Given the description of an element on the screen output the (x, y) to click on. 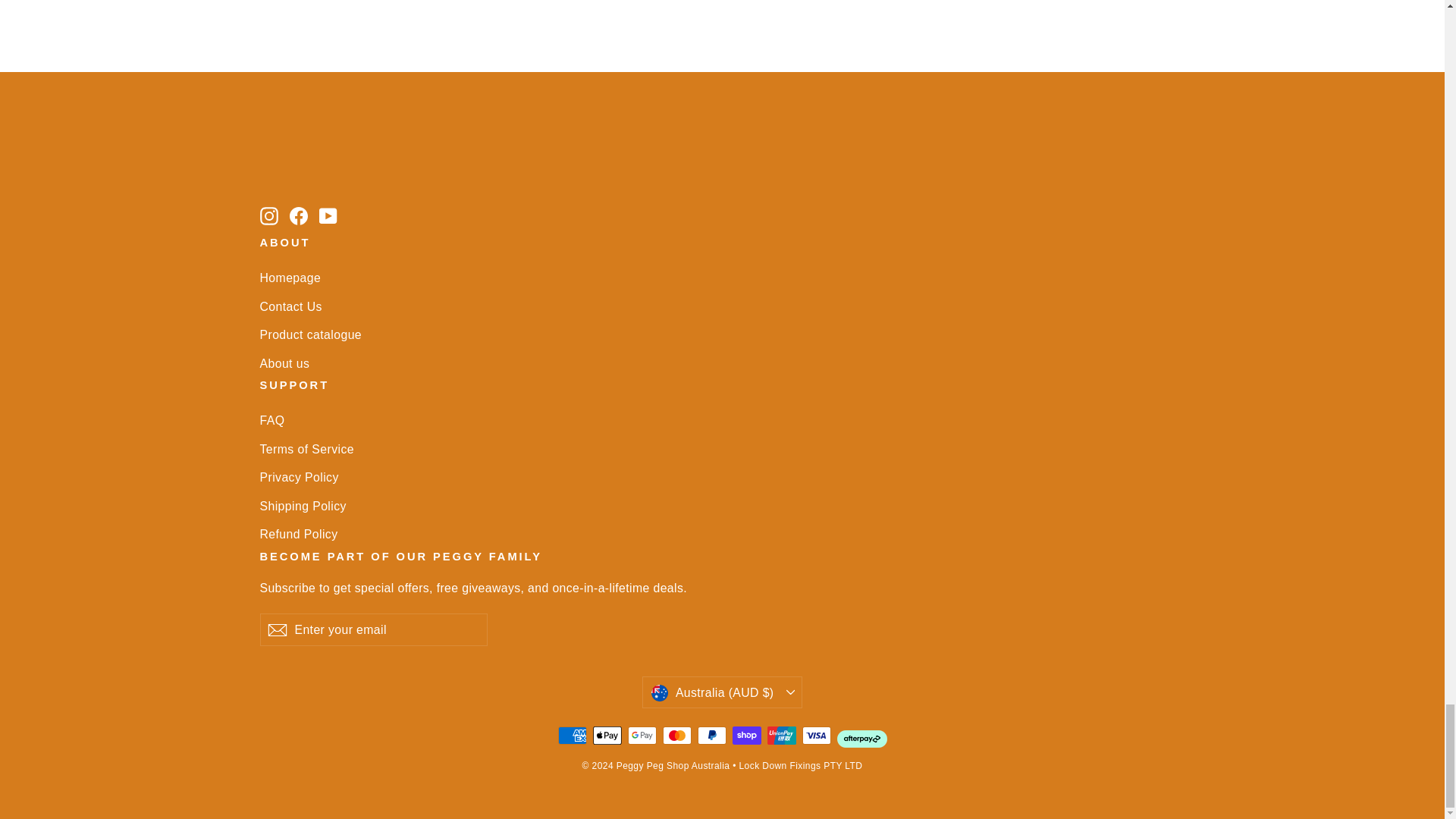
Peggy Peg Shop Australia on Facebook (298, 214)
Peggy Peg Shop Australia on YouTube (327, 214)
